Given the description of an element on the screen output the (x, y) to click on. 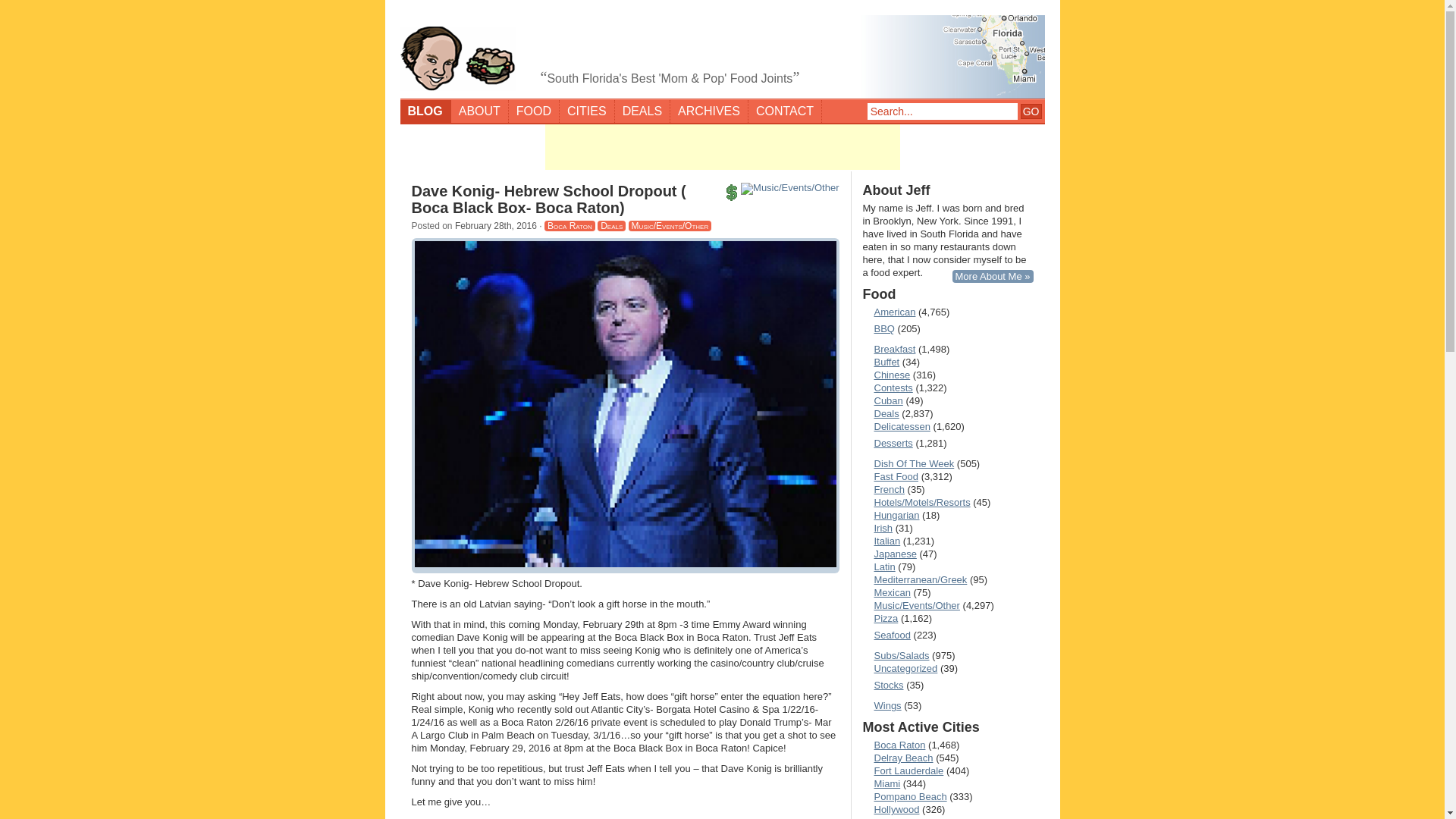
Desserts (887, 442)
About Me (992, 276)
Fast Food (890, 476)
Latin (879, 566)
Cuban (882, 400)
Hungarian (891, 514)
Contact Me (785, 110)
Food Archive (533, 110)
BLOG (425, 110)
Irish (878, 527)
